Given the description of an element on the screen output the (x, y) to click on. 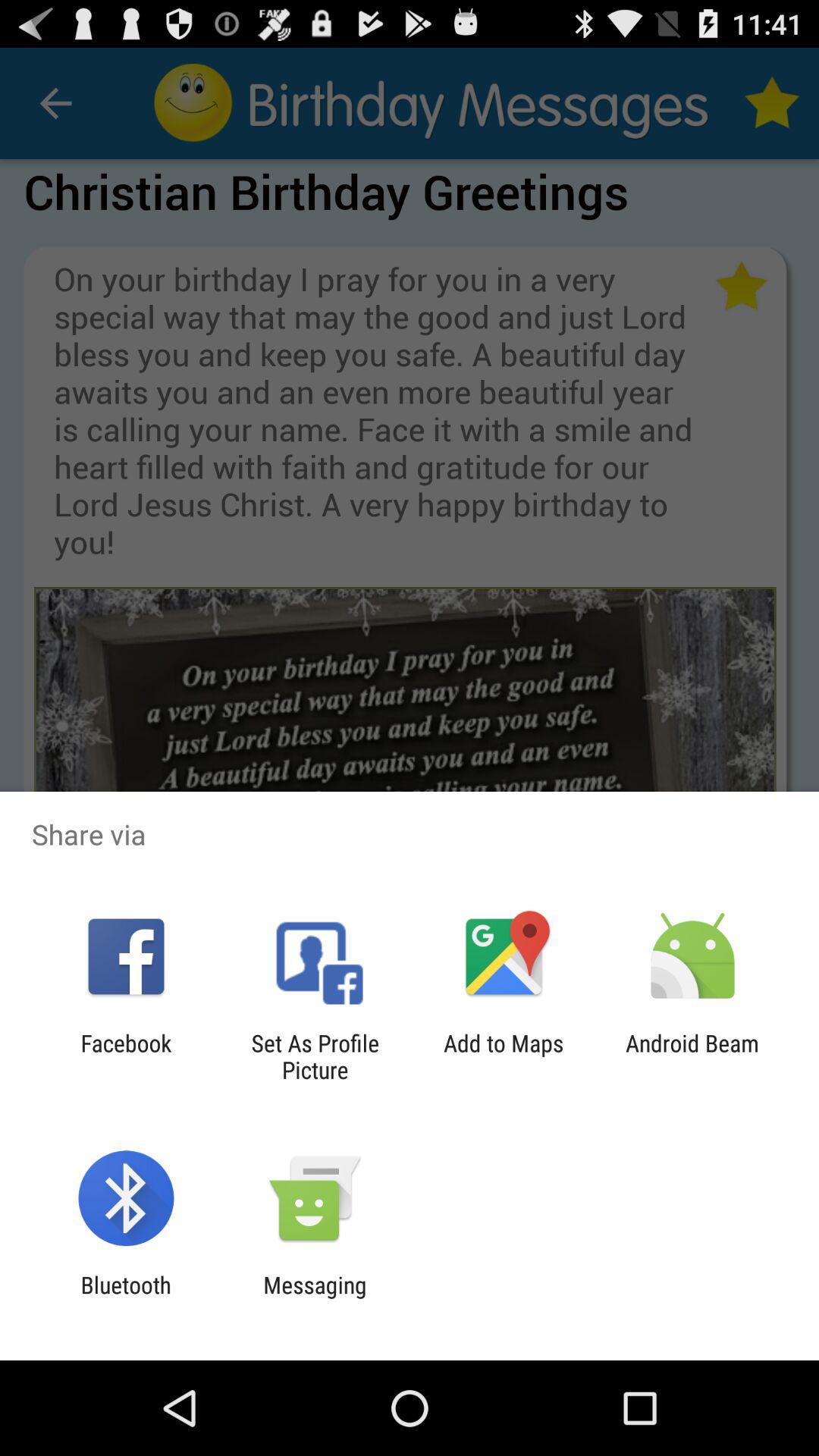
open the messaging icon (314, 1298)
